Given the description of an element on the screen output the (x, y) to click on. 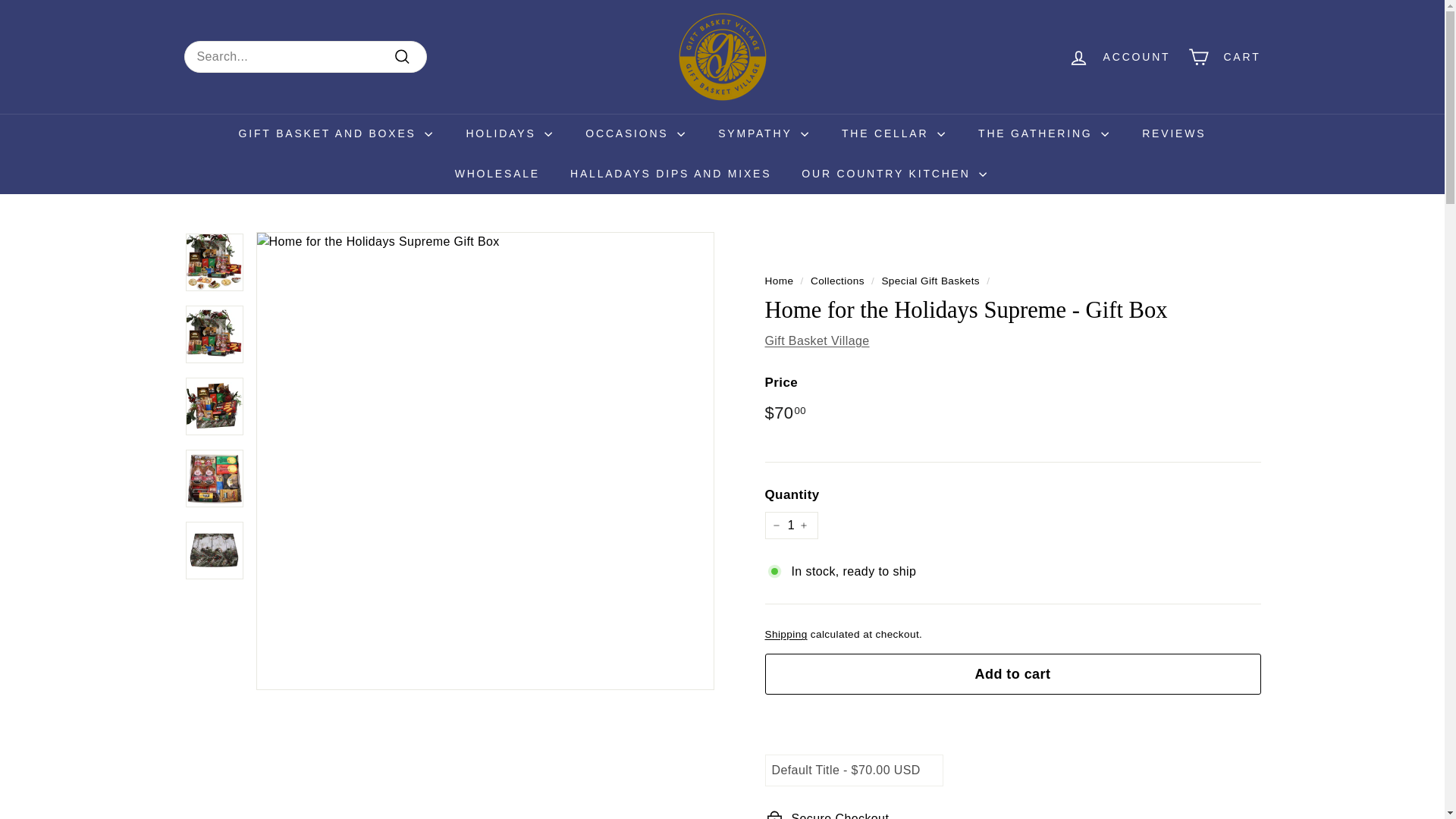
ACCOUNT (1119, 57)
Gift Basket Village (816, 340)
CART (1224, 57)
1 (790, 524)
Back to the frontpage (778, 280)
